Given the description of an element on the screen output the (x, y) to click on. 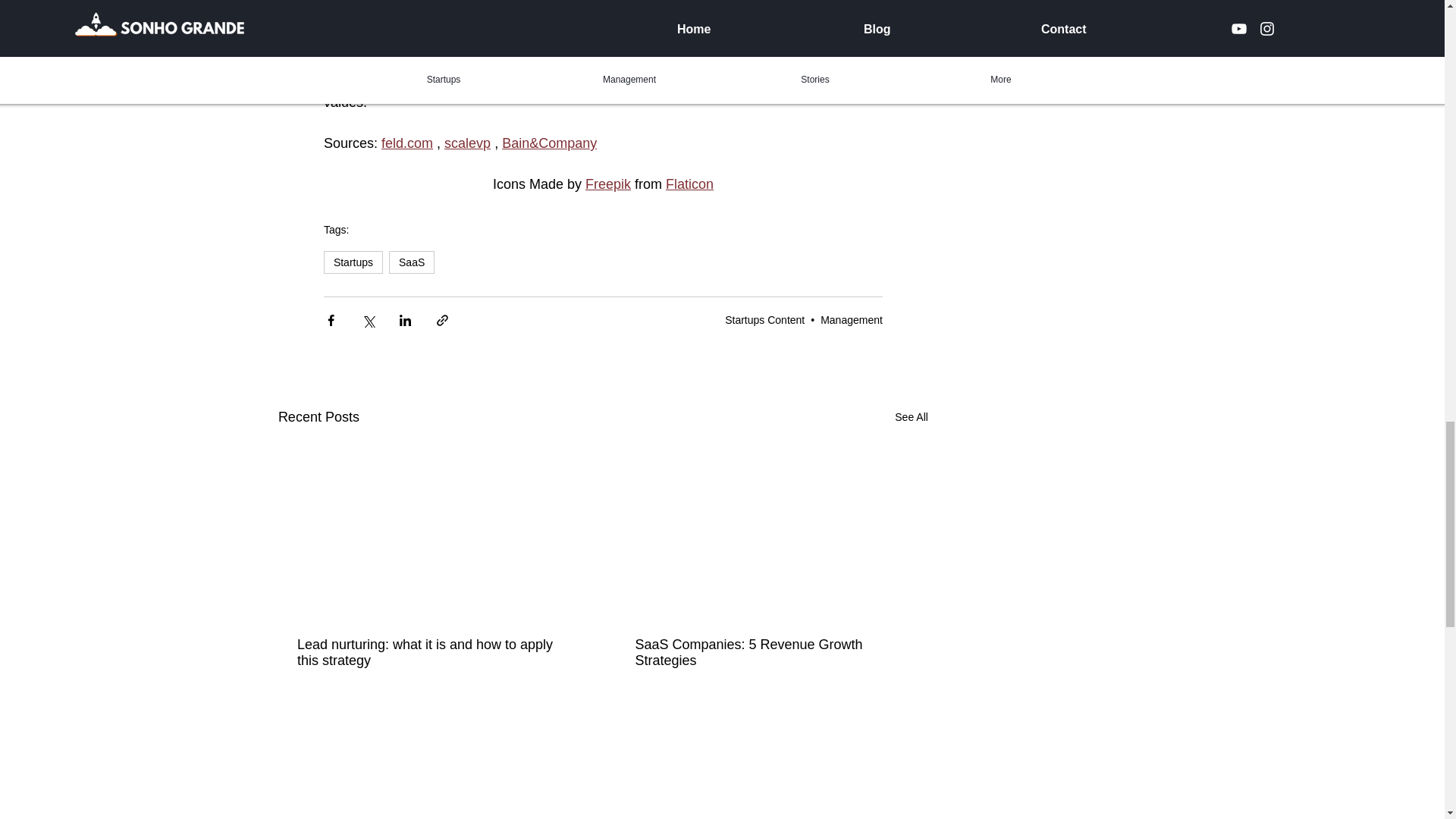
See All (911, 417)
Flaticon (689, 183)
feld.com (406, 142)
Management (851, 319)
SaaS Companies: 5 Revenue Growth Strategies (771, 653)
Startups (352, 261)
scalevp (467, 142)
SaaS (410, 261)
Startups Content (765, 319)
Lead nurturing: what it is and how to apply this strategy (434, 653)
